Given the description of an element on the screen output the (x, y) to click on. 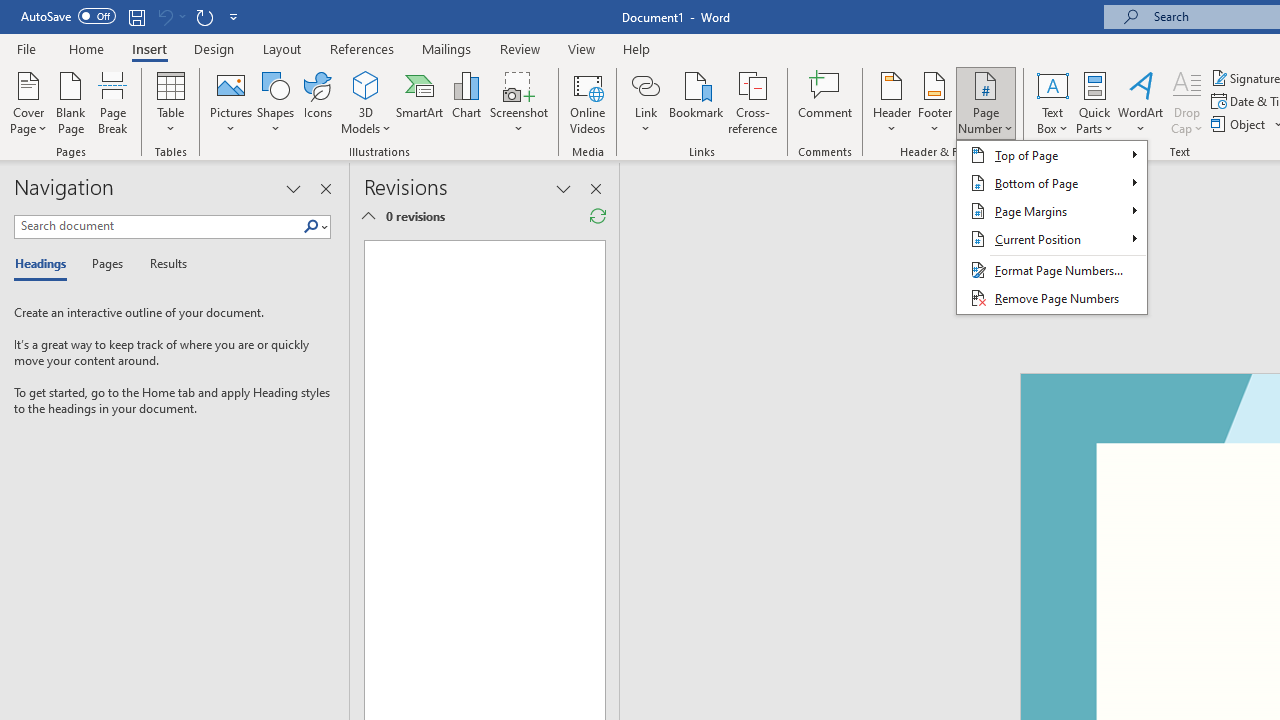
3D Models (366, 102)
Quick Parts (1094, 102)
Page Number (1052, 227)
Screenshot (518, 102)
Link (645, 102)
Can't Undo (170, 15)
Icons (317, 102)
Footer (934, 102)
Pictures (230, 102)
Drop Cap (1187, 102)
